Given the description of an element on the screen output the (x, y) to click on. 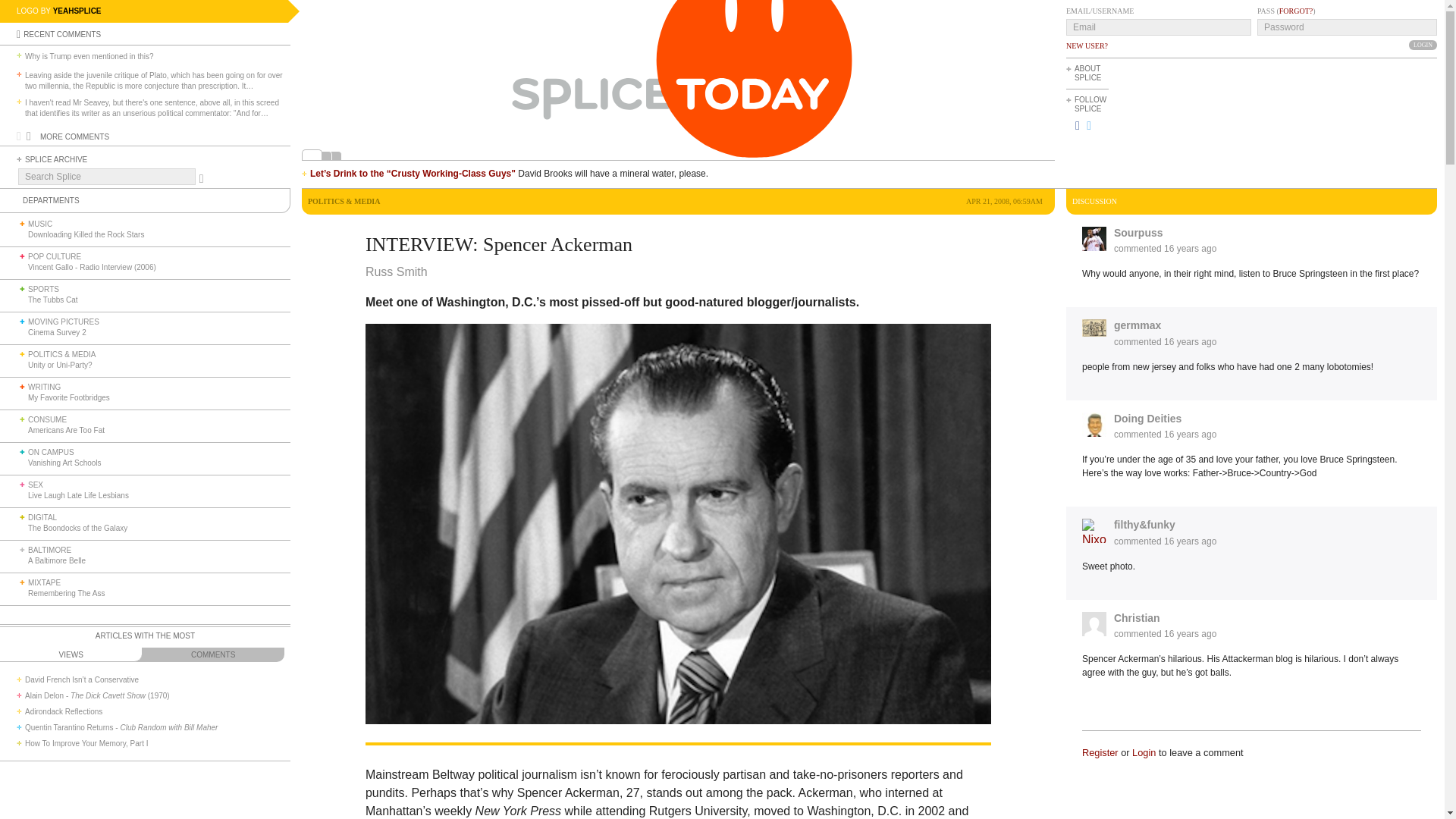
SEX (35, 484)
RECENT COMMENTS (61, 34)
Americans Are Too Fat (65, 429)
Why is Trump even mentioned in this? (89, 56)
YEAHSPLICE (76, 10)
SPORTS (43, 289)
Vanishing Art Schools (64, 462)
FORGOT? (1296, 10)
POP CULTURE (54, 256)
SPLICE ARCHIVE (55, 159)
